Given the description of an element on the screen output the (x, y) to click on. 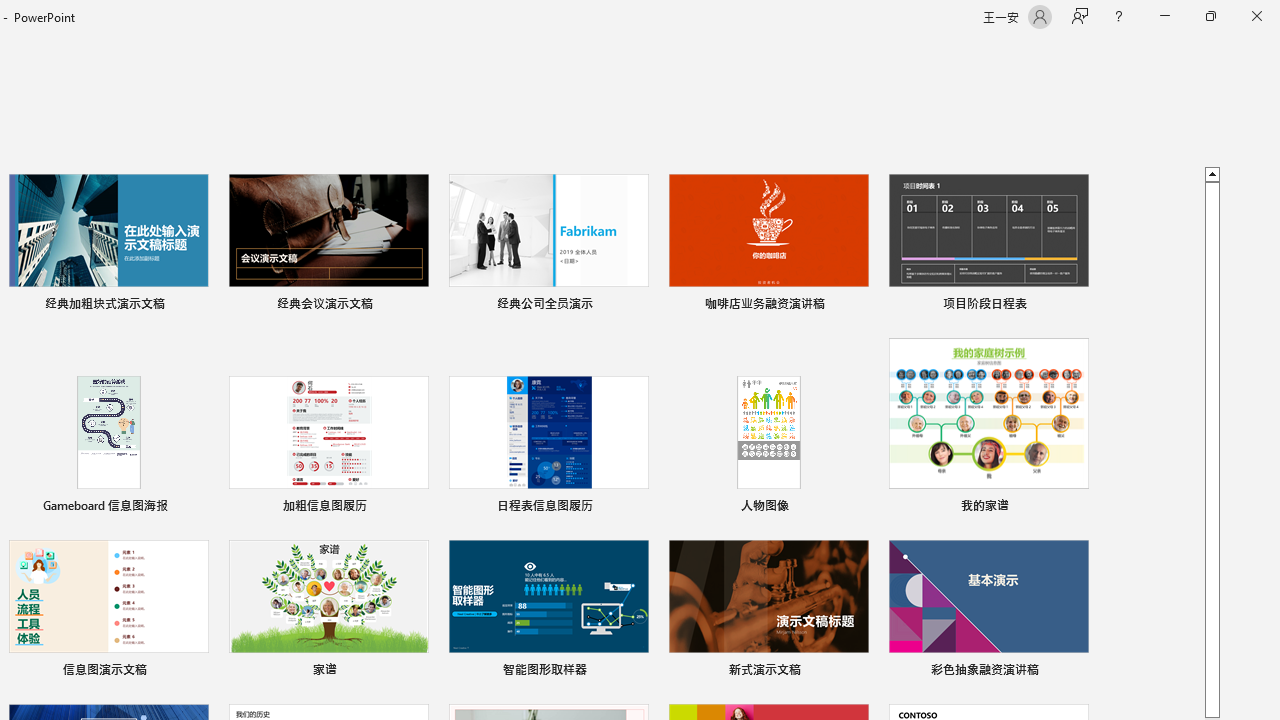
Pin to list (1075, 671)
